Given the description of an element on the screen output the (x, y) to click on. 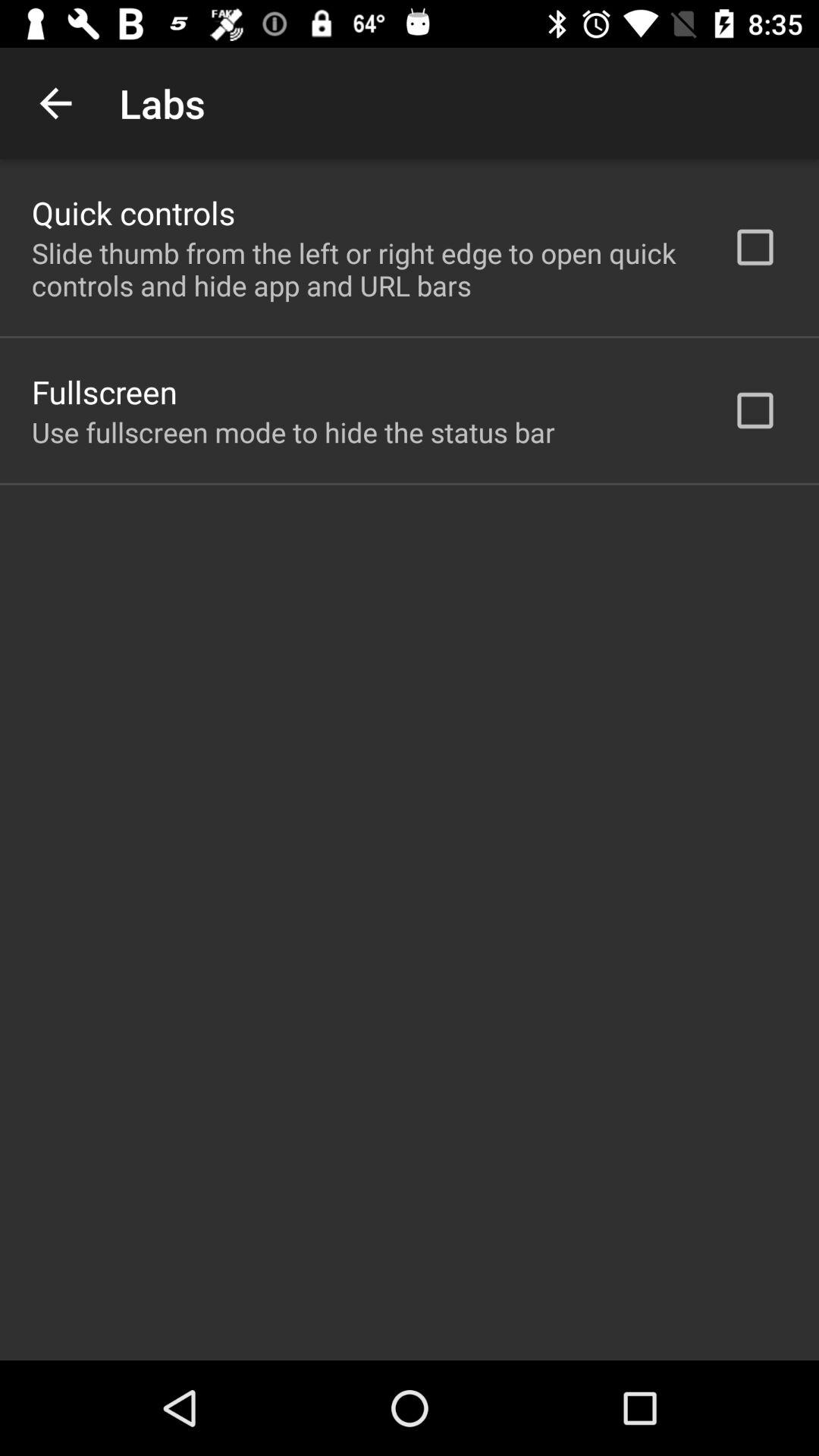
select the app above quick controls icon (55, 103)
